Given the description of an element on the screen output the (x, y) to click on. 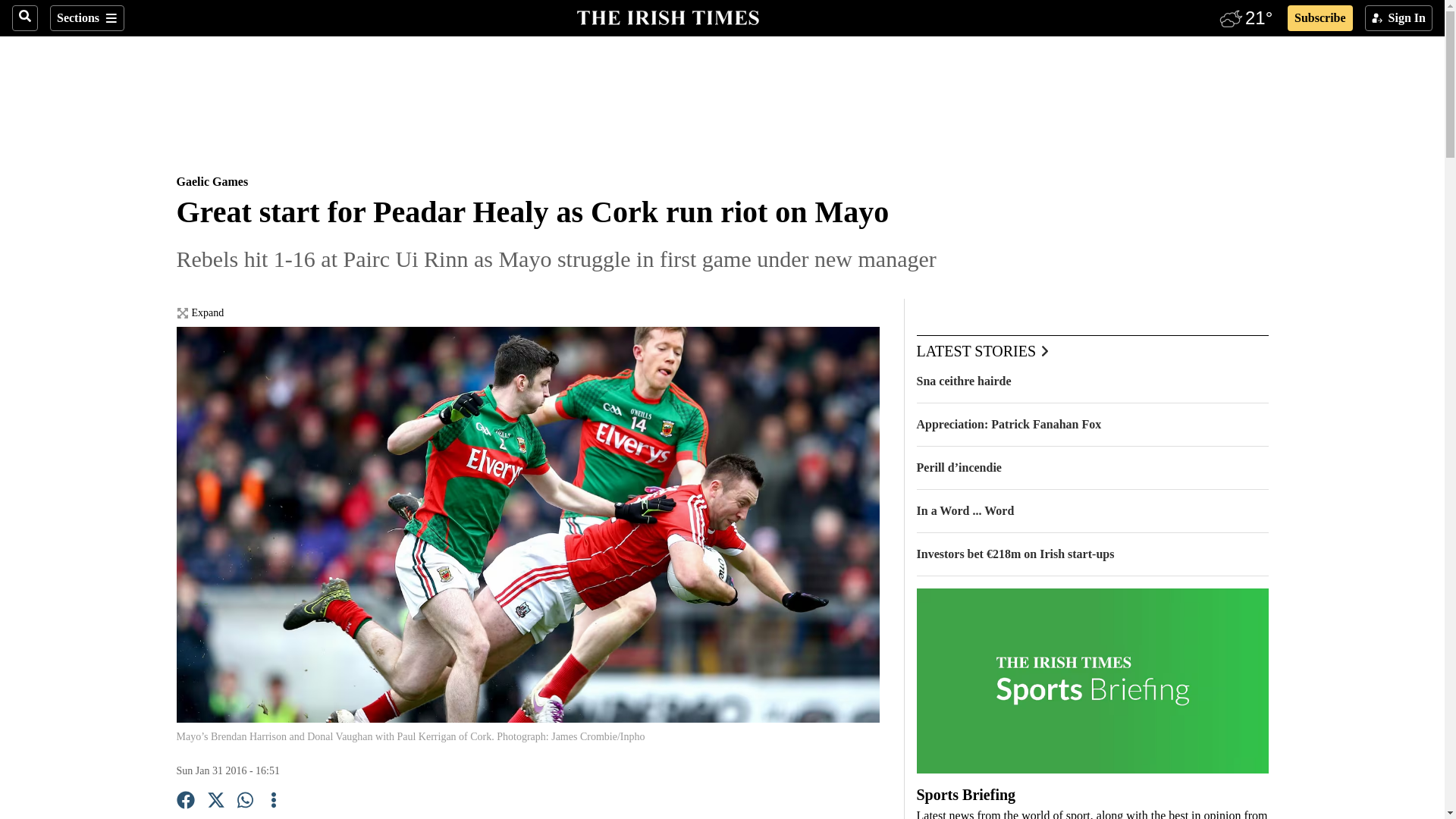
Subscribe (1319, 17)
The Irish Times (667, 16)
Sign In (1398, 17)
Sections (86, 17)
